Given the description of an element on the screen output the (x, y) to click on. 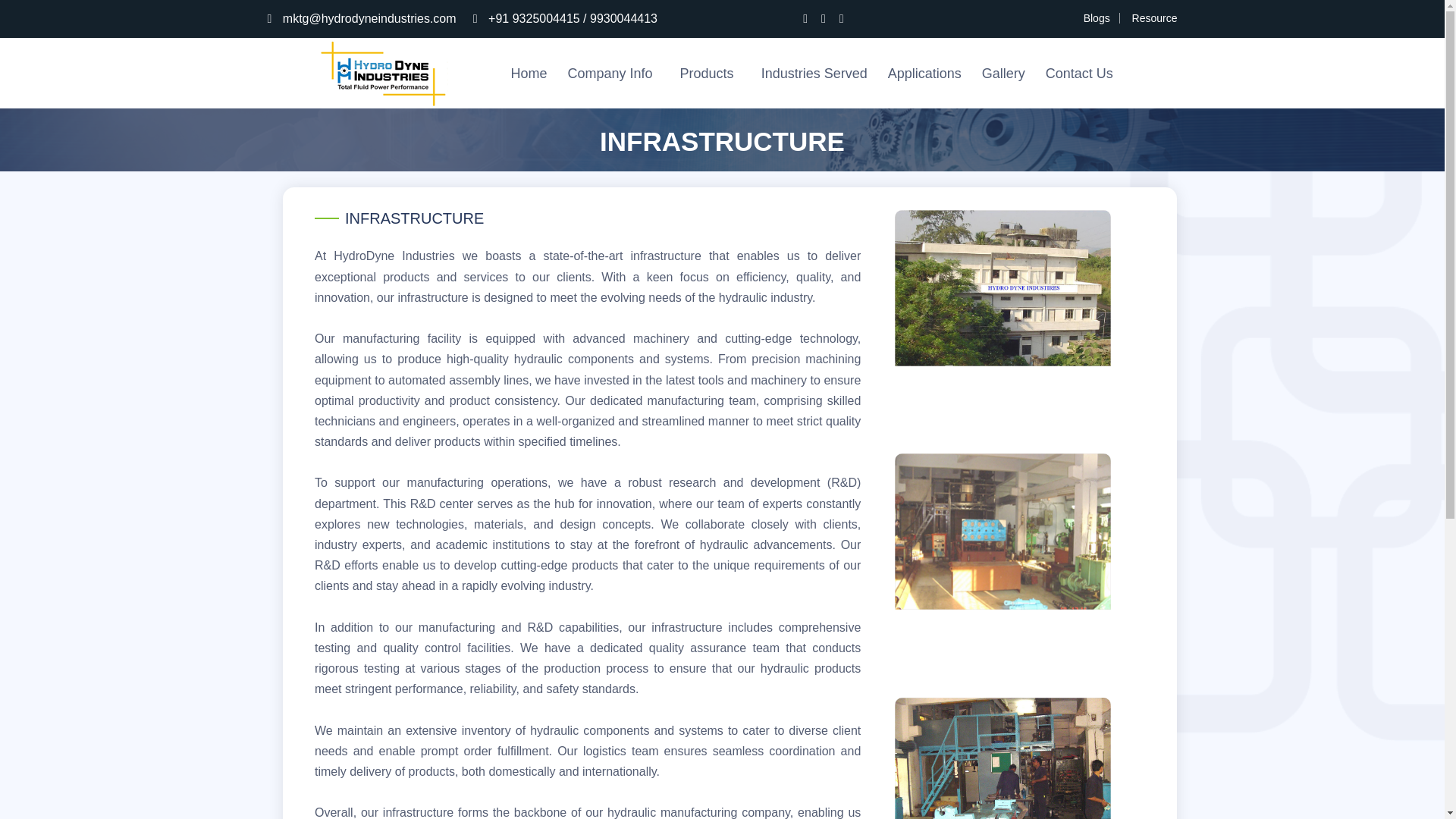
Company Info (613, 73)
Applications (924, 73)
Gallery (1002, 73)
Products (710, 73)
Home (528, 73)
Industries Served (814, 73)
Resource (1154, 18)
Contact Us (1079, 73)
Blogs (1096, 18)
